Given the description of an element on the screen output the (x, y) to click on. 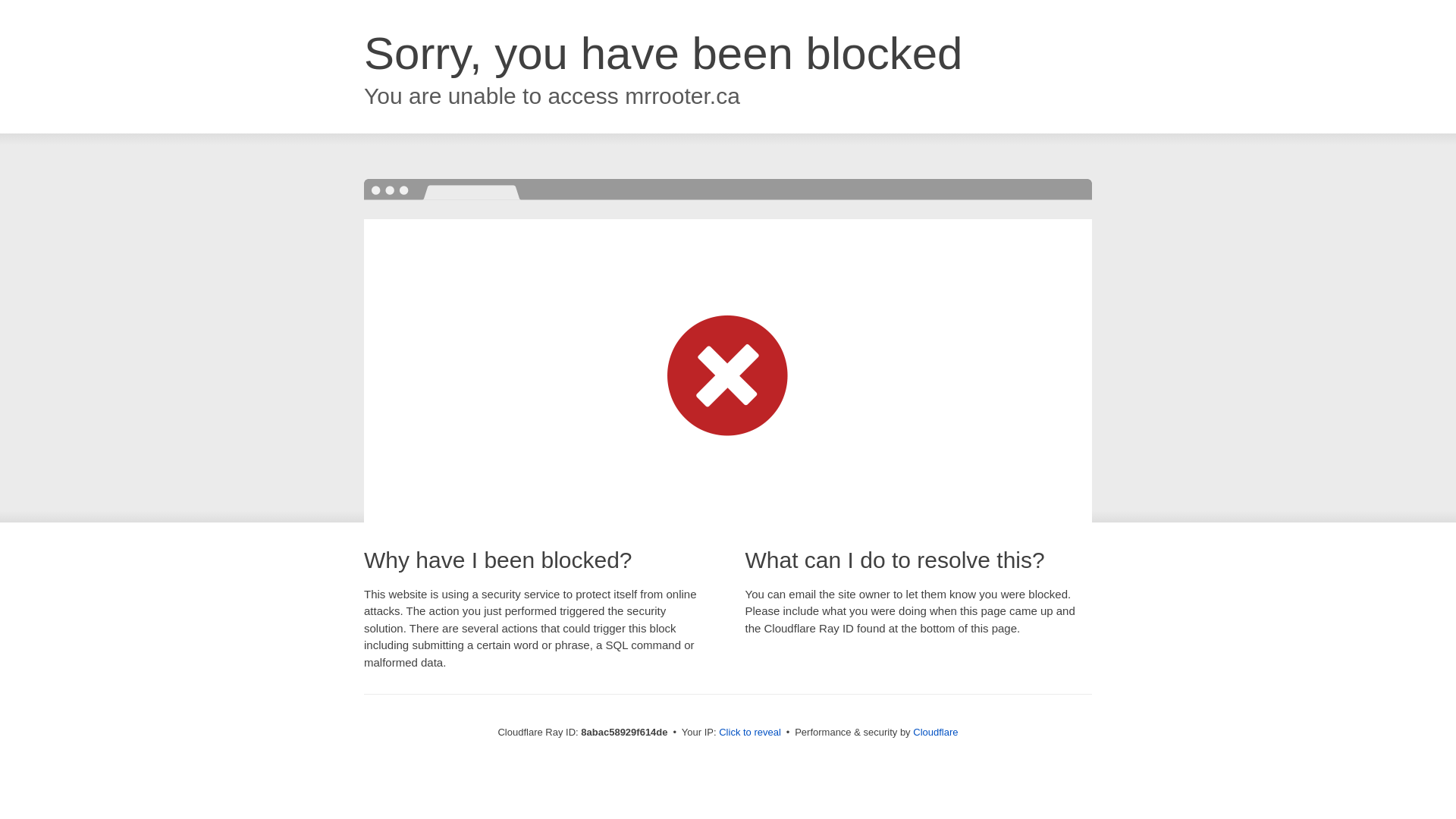
Click to reveal (749, 732)
Cloudflare (935, 731)
